Given the description of an element on the screen output the (x, y) to click on. 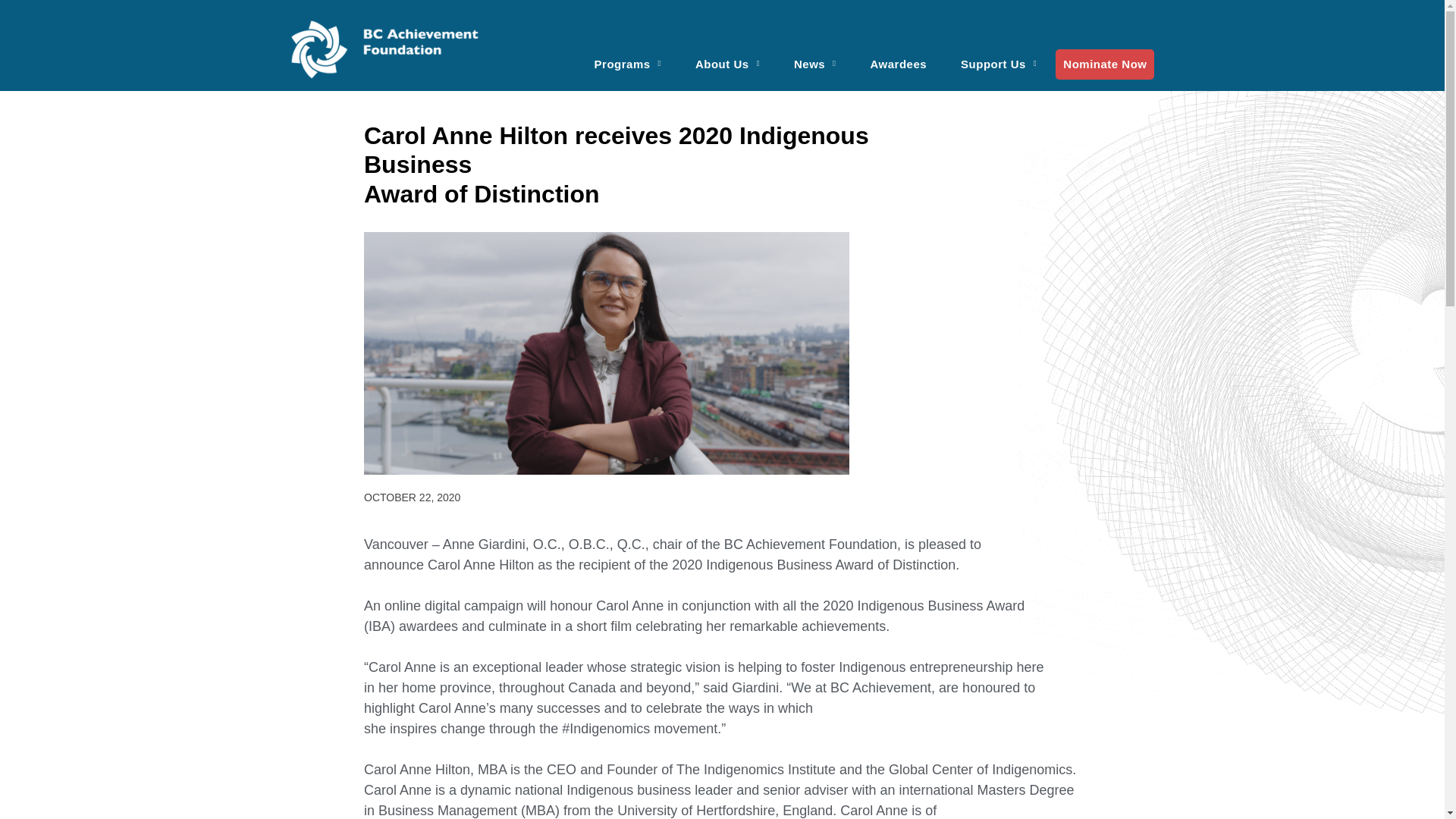
Programs (628, 54)
About Us (726, 54)
Awardees (899, 54)
Support Us (997, 54)
News (814, 54)
Nominate Now (1104, 63)
